Given the description of an element on the screen output the (x, y) to click on. 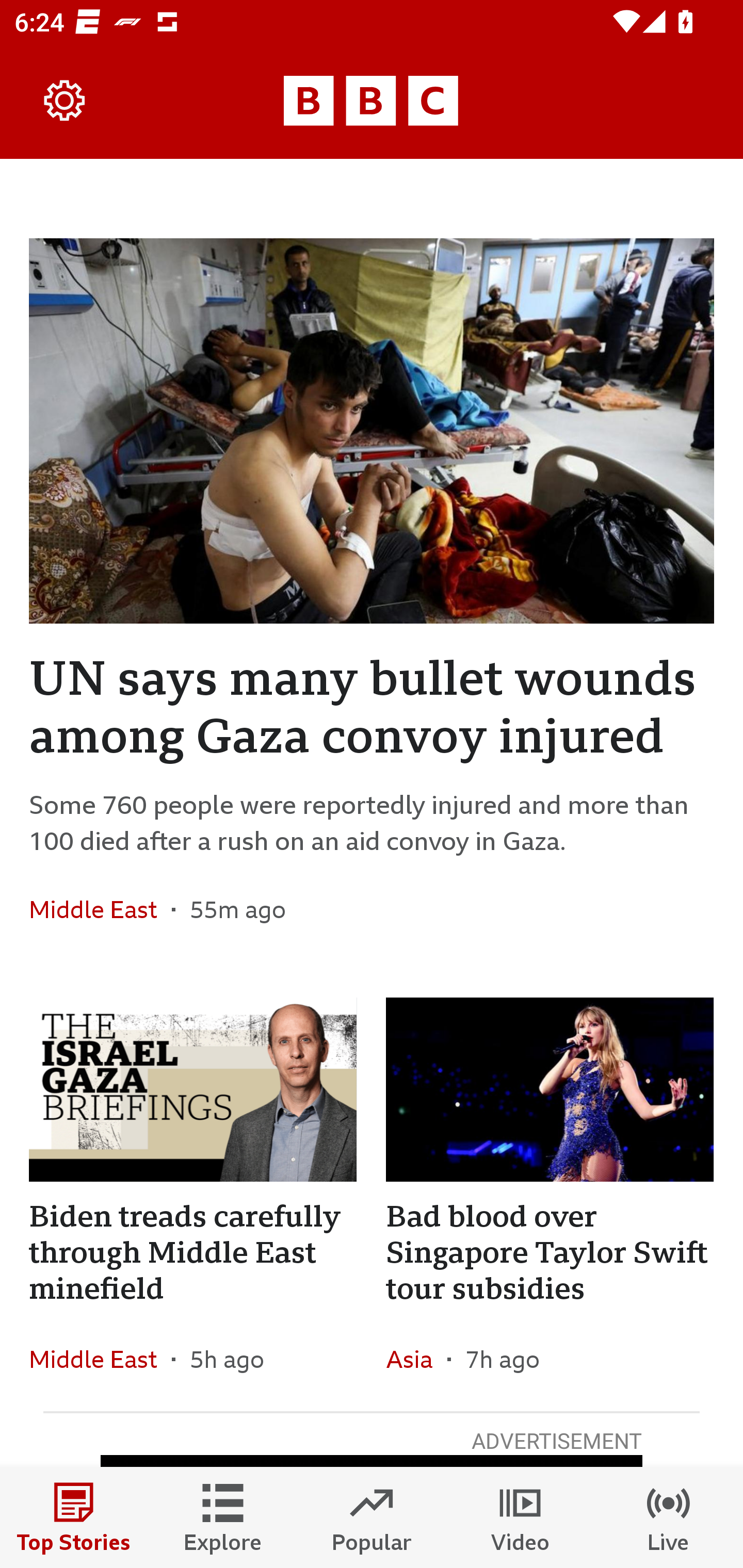
Settings (64, 100)
Middle East In the section Middle East (99, 909)
Middle East In the section Middle East (99, 1359)
Asia In the section Asia (416, 1359)
Explore (222, 1517)
Popular (371, 1517)
Video (519, 1517)
Live (668, 1517)
